Given the description of an element on the screen output the (x, y) to click on. 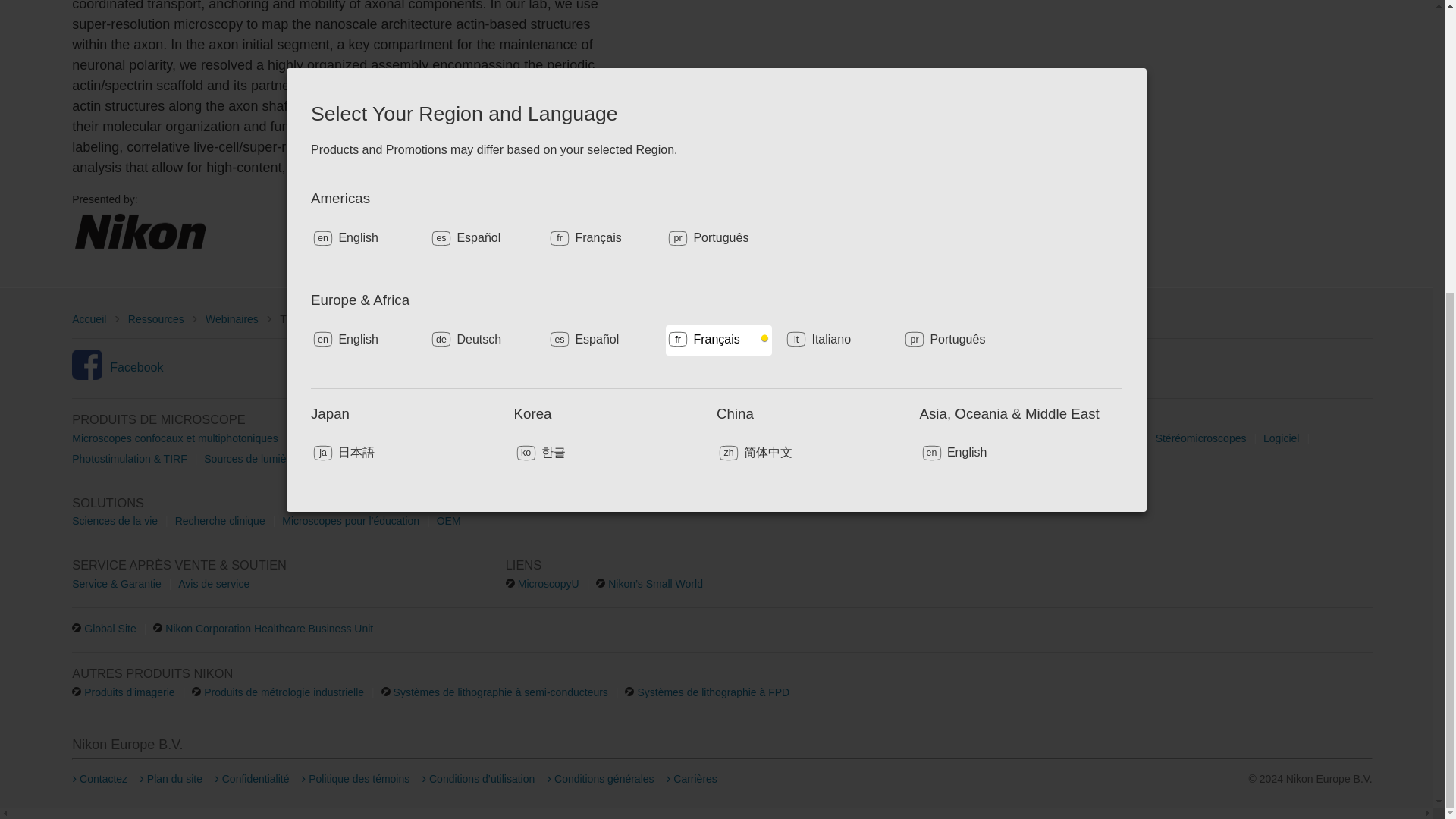
Nikon (139, 232)
